Given the description of an element on the screen output the (x, y) to click on. 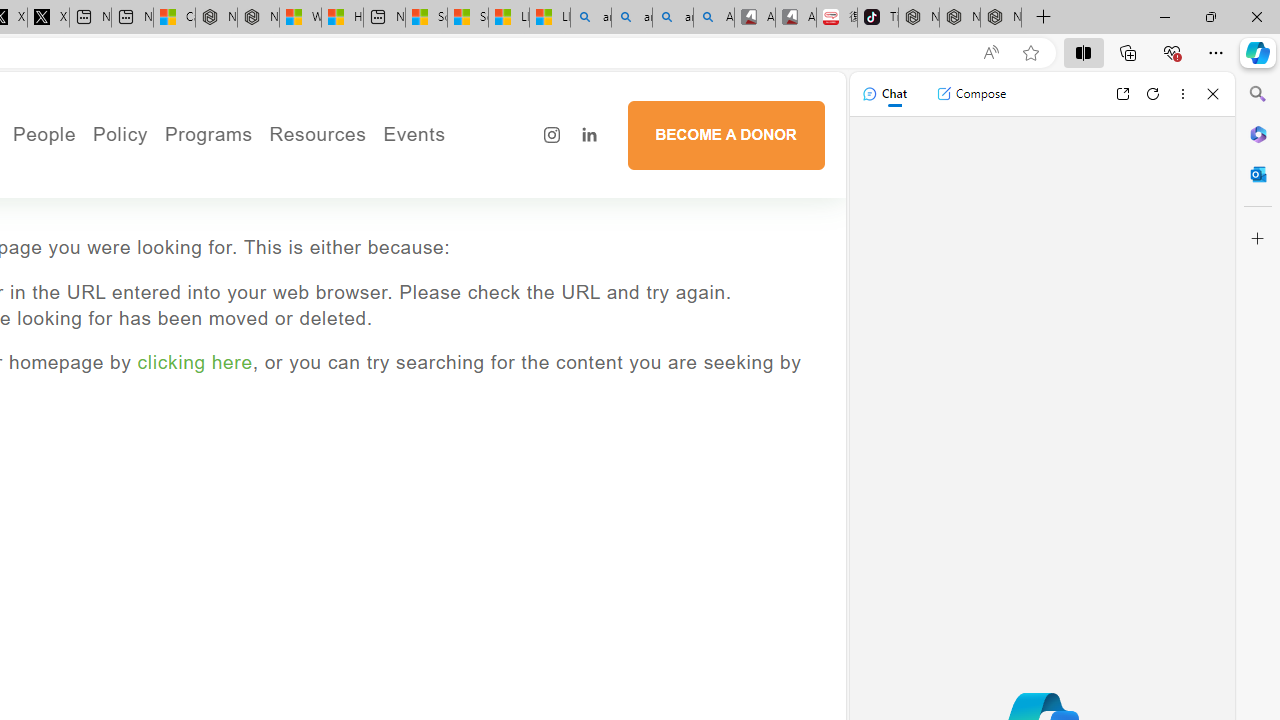
Resources (317, 134)
Cultivating Farmers (263, 228)
